Given the description of an element on the screen output the (x, y) to click on. 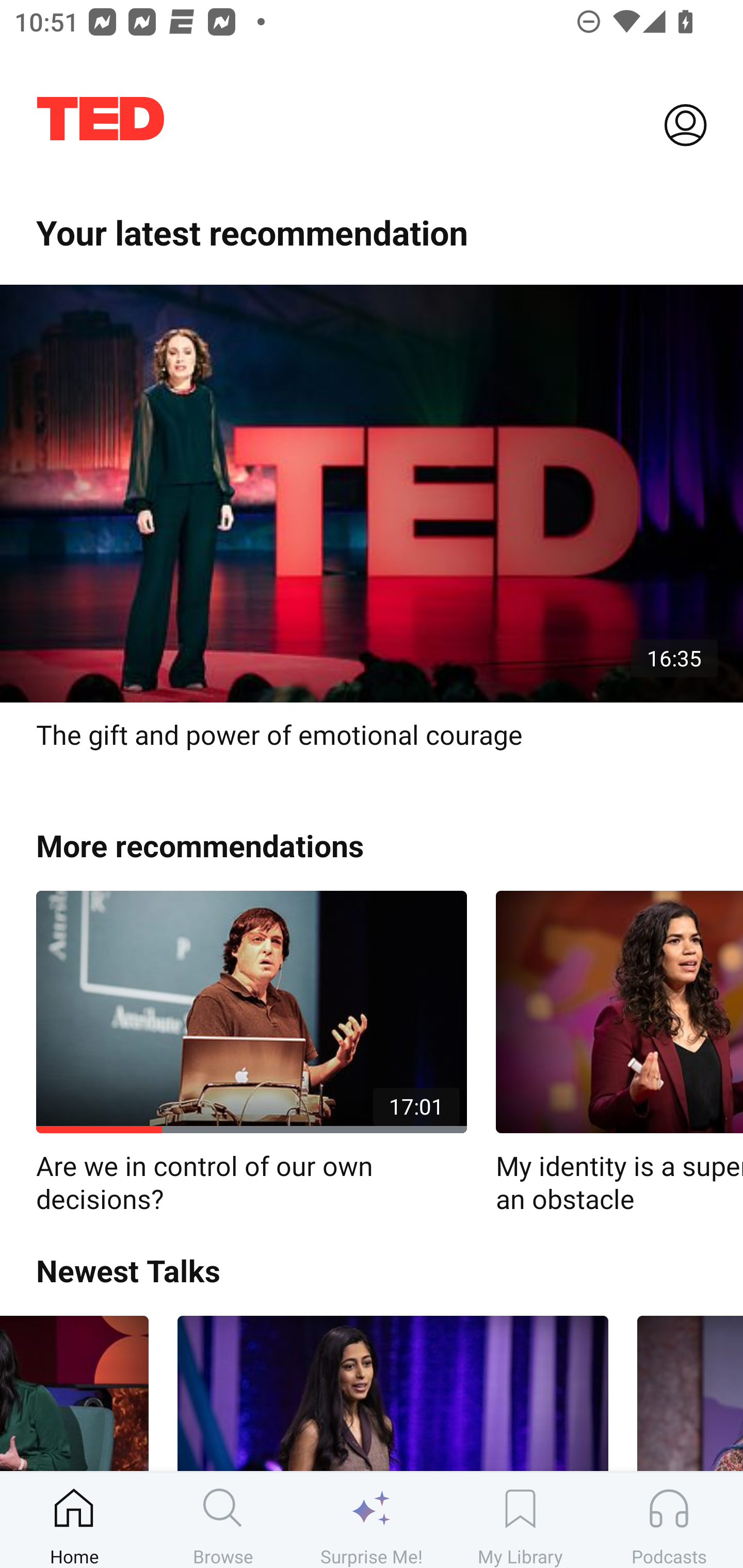
17:01 Are we in control of our own decisions? (251, 1053)
My identity is a superpower -- not an obstacle (619, 1053)
Home (74, 1520)
Browse (222, 1520)
Surprise Me! (371, 1520)
My Library (519, 1520)
Podcasts (668, 1520)
